Given the description of an element on the screen output the (x, y) to click on. 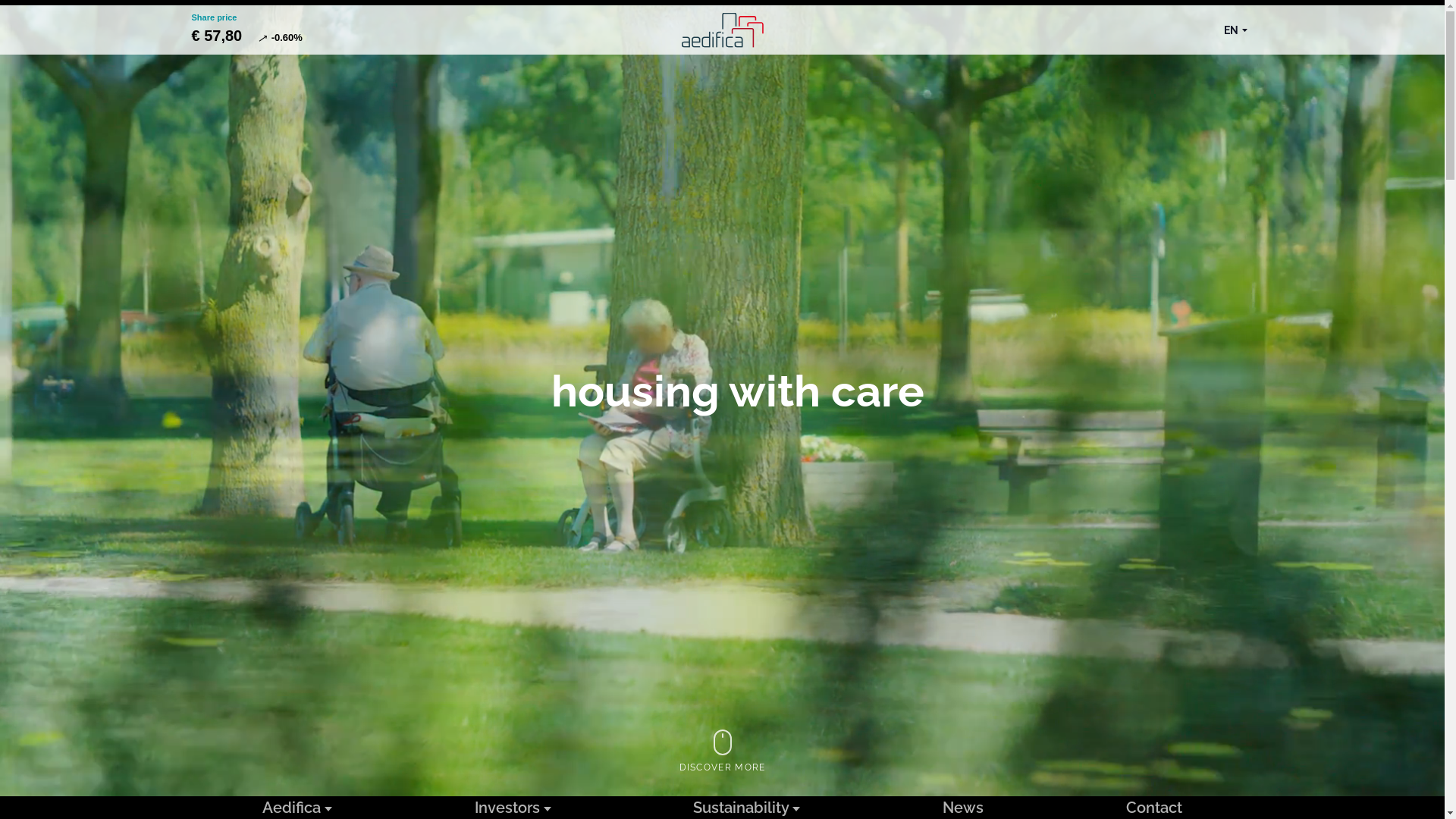
Aedifica Element type: hover (722, 29)
DISCOVER MORE Element type: text (721, 751)
